Given the description of an element on the screen output the (x, y) to click on. 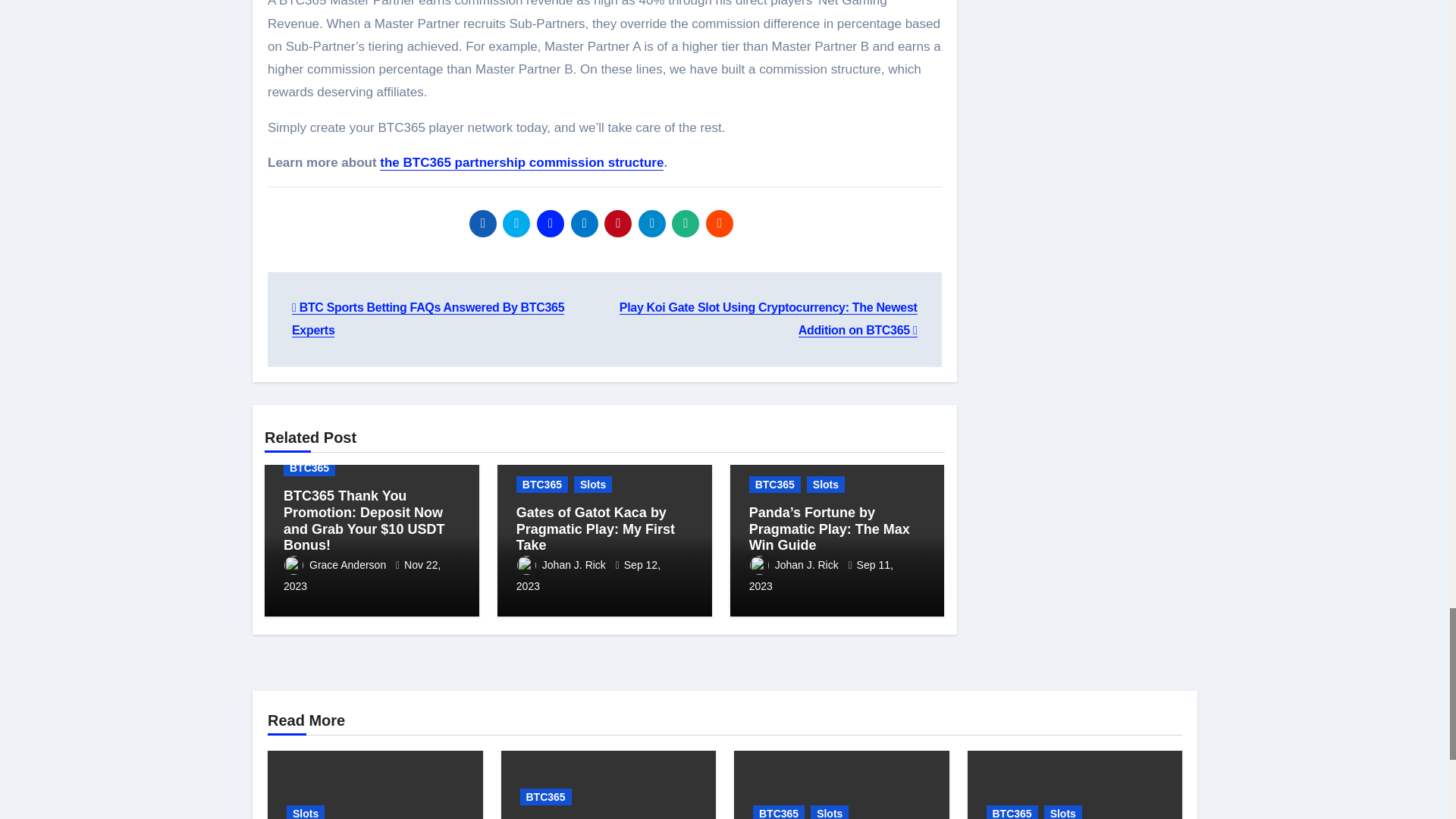
the BTC365 partnership commission structure (521, 162)
BTC365 (308, 467)
Nov 22, 2023 (362, 575)
Grace Anderson (335, 564)
BTC Sports Betting FAQs Answered By BTC365 Experts (428, 318)
